Given the description of an element on the screen output the (x, y) to click on. 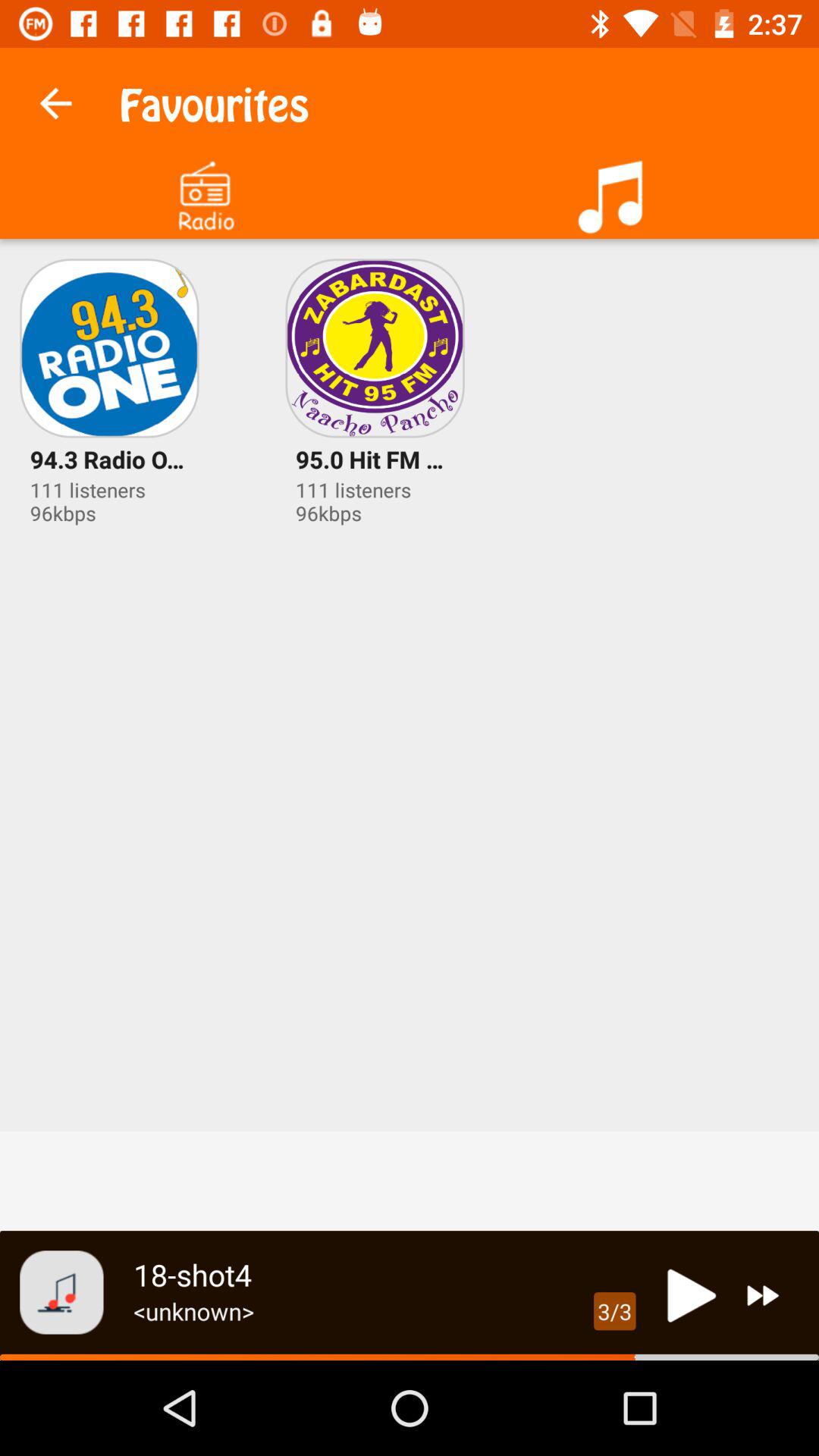
click icon next to the favourites (55, 99)
